Given the description of an element on the screen output the (x, y) to click on. 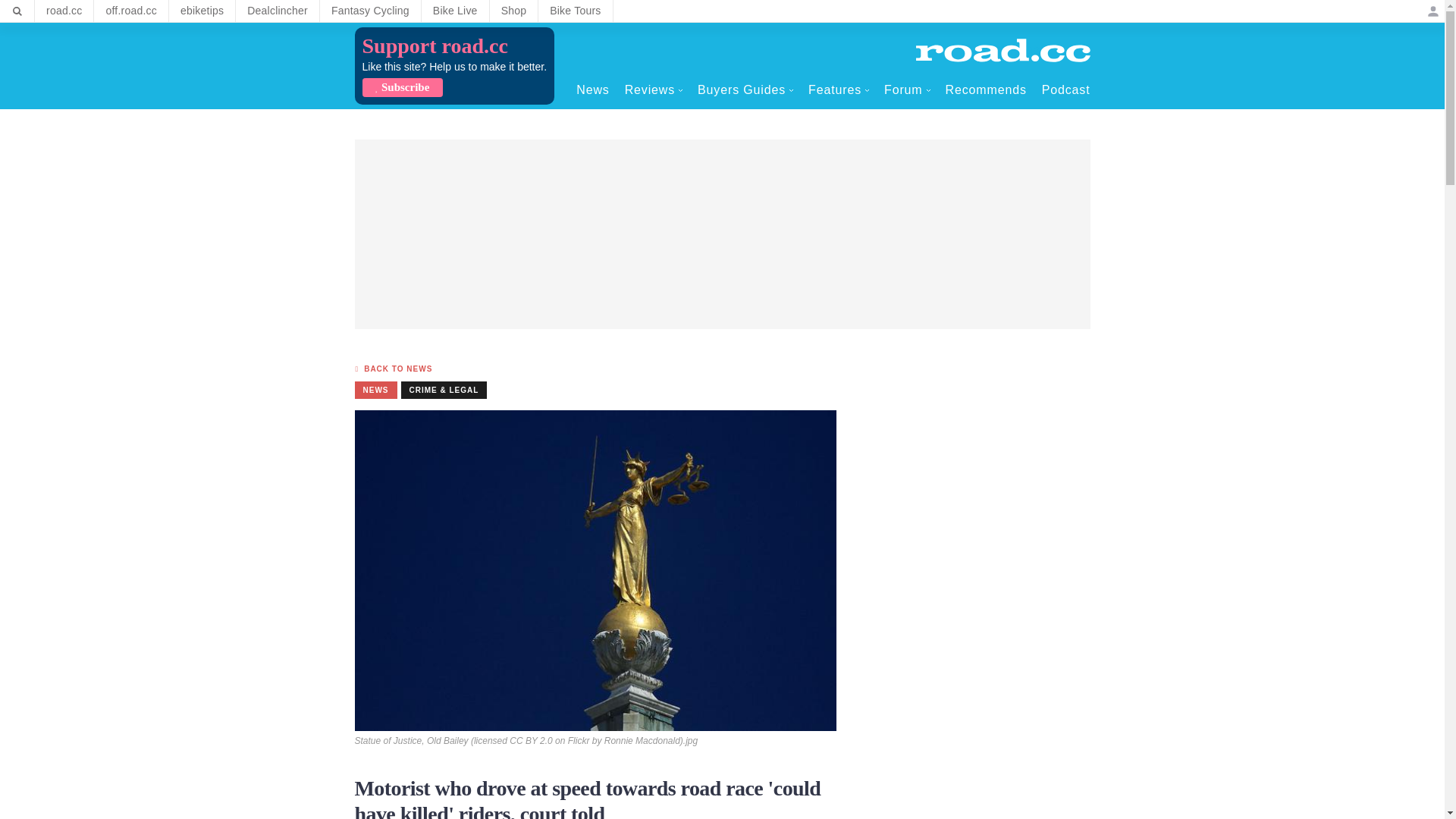
Dealclincher (276, 11)
off.road.cc (131, 11)
Shop (513, 11)
Home (1002, 50)
road.cc (63, 11)
Bike Tours (574, 11)
Bike Live (455, 11)
Subscribe (402, 87)
ebiketips (201, 11)
Fantasy Cycling (370, 11)
Reviews (653, 89)
